Given the description of an element on the screen output the (x, y) to click on. 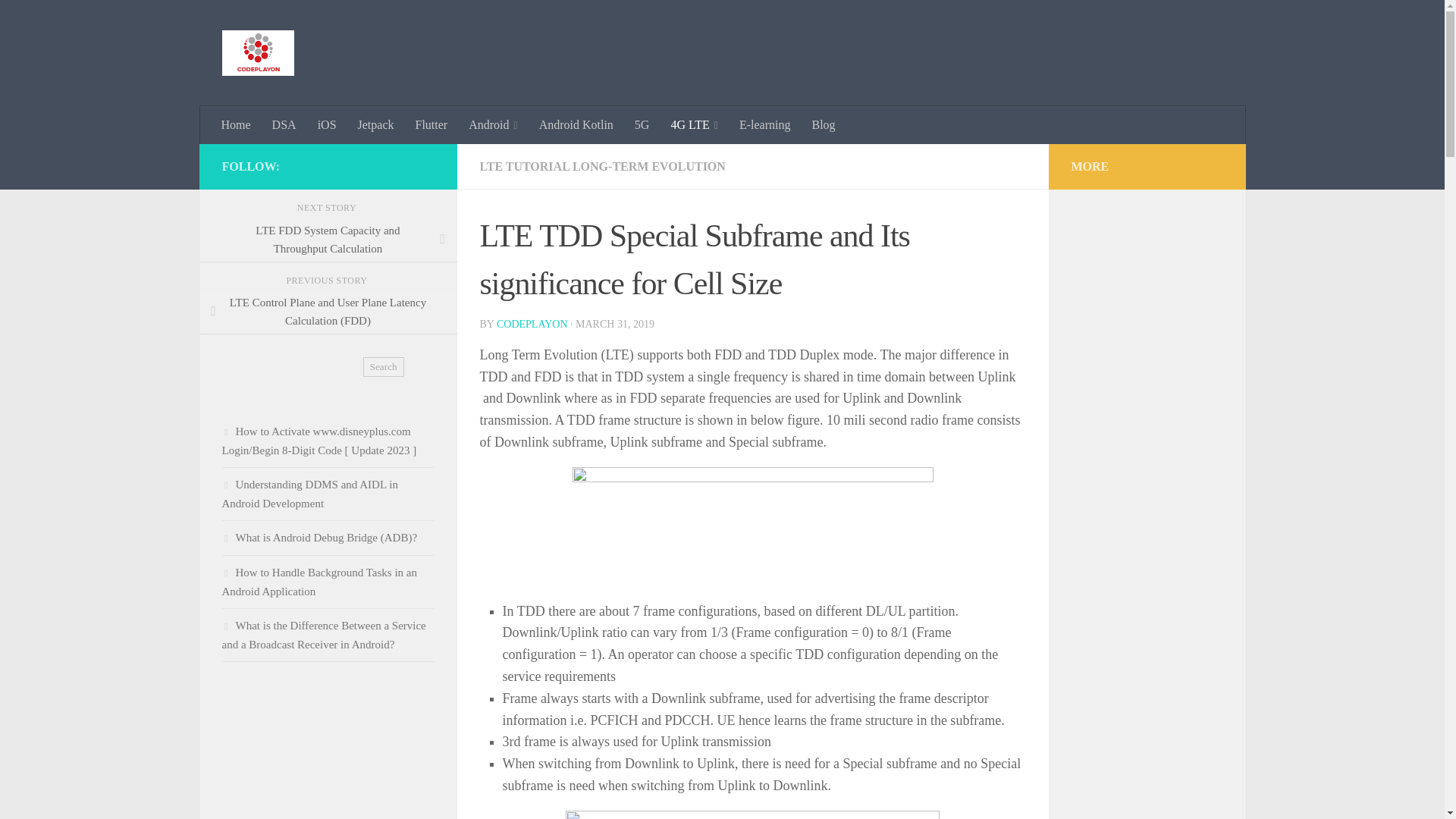
Flutter (431, 125)
Android Kotlin (576, 125)
CODEPLAYON (531, 324)
Advertisement (327, 759)
Home (236, 125)
Posts by Codeplayon (531, 324)
iOS (327, 125)
Blog (822, 125)
E-learning (765, 125)
Skip to content (59, 20)
Jetpack (375, 125)
4G LTE (694, 125)
5G (642, 125)
LTE TUTORIAL LONG-TERM EVOLUTION  (603, 165)
Android (492, 125)
